Given the description of an element on the screen output the (x, y) to click on. 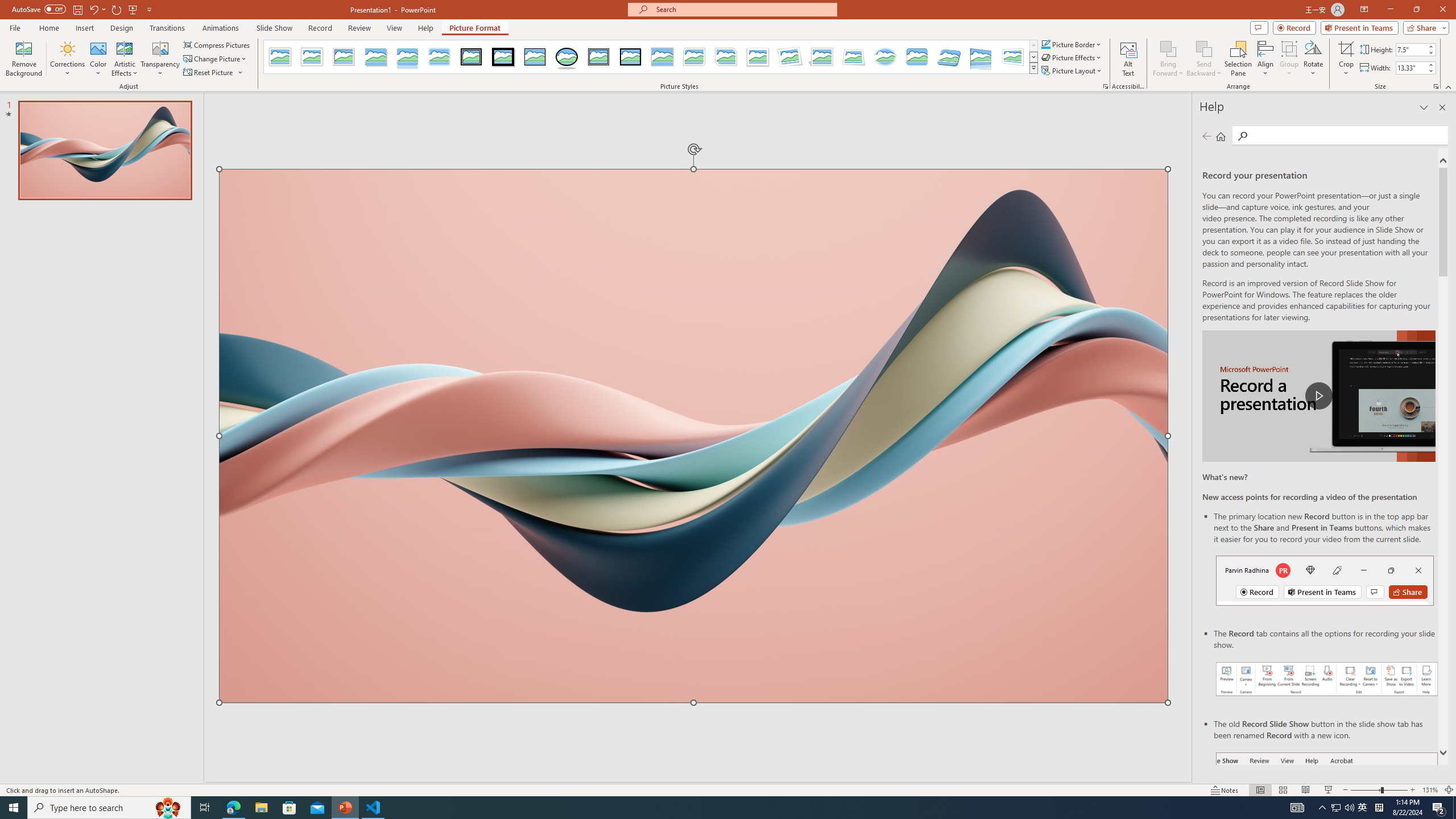
Home (48, 28)
Minimize (1390, 9)
Save (77, 9)
Double Frame, Black (471, 56)
Picture Effects (1072, 56)
Slide (104, 150)
Record your presentations screenshot one (1326, 678)
More (1430, 64)
Reflected Rounded Rectangle (407, 56)
Group (1288, 58)
Align (1264, 58)
Compound Frame, Black (598, 56)
Picture Border Blue, Accent 1 (1045, 44)
Bevel Rectangle (917, 56)
